Given the description of an element on the screen output the (x, y) to click on. 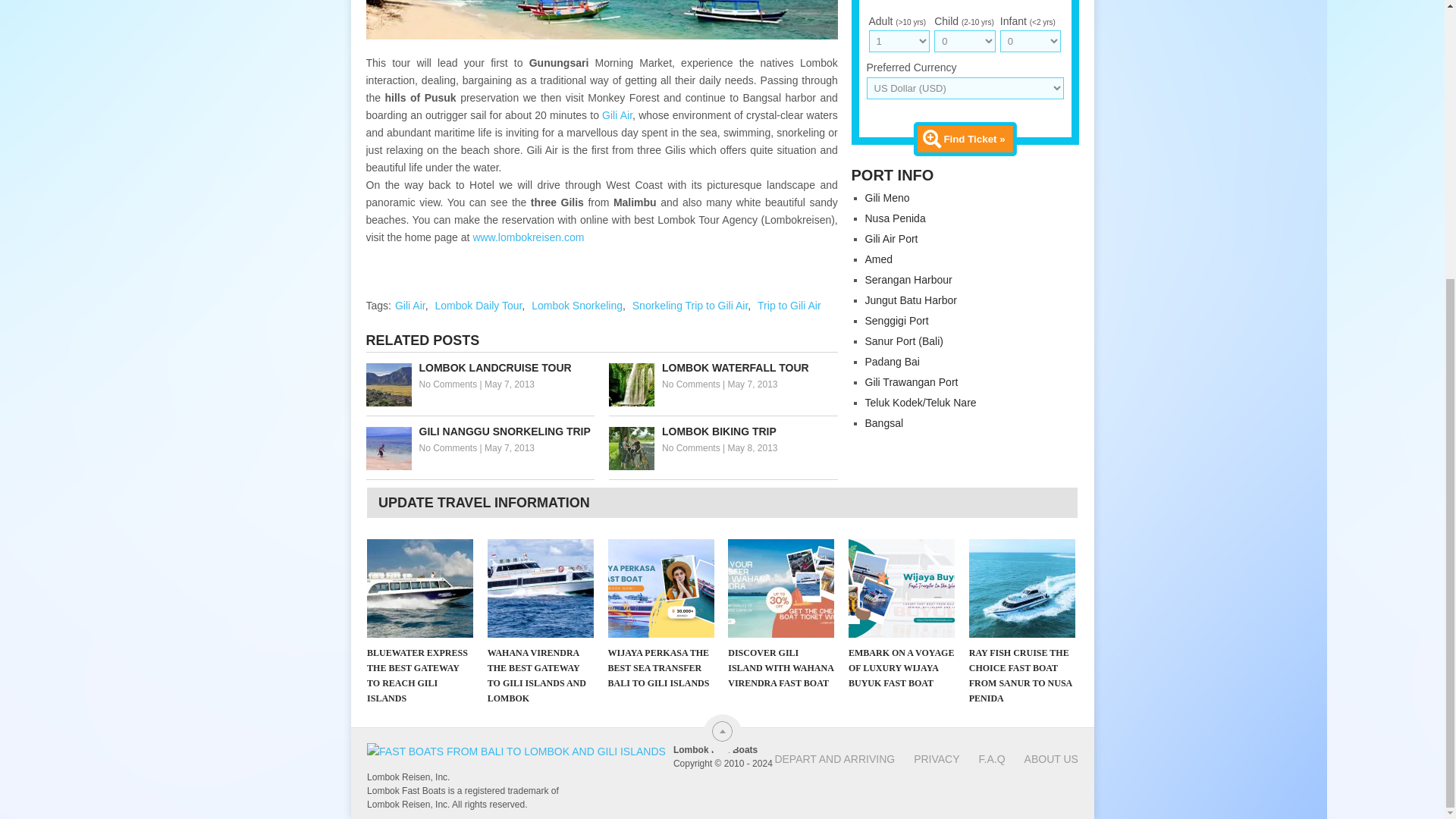
Nusa Penida (894, 218)
Lombok Biking Trip (723, 431)
Gili Air Port (890, 238)
LOMBOK WATERFALL TOUR (723, 367)
Padang Bai (891, 361)
Gili Trawangan Port (911, 381)
No Comments (691, 384)
No Comments (448, 384)
www.lombokreisen.com (527, 236)
Senggigi Port (896, 320)
Amed (878, 259)
GILI NANGGU SNORKELING TRIP (479, 431)
Serangan Harbour (908, 279)
LOMBOK BIKING TRIP (723, 431)
Trip to Gili Air (789, 305)
